Given the description of an element on the screen output the (x, y) to click on. 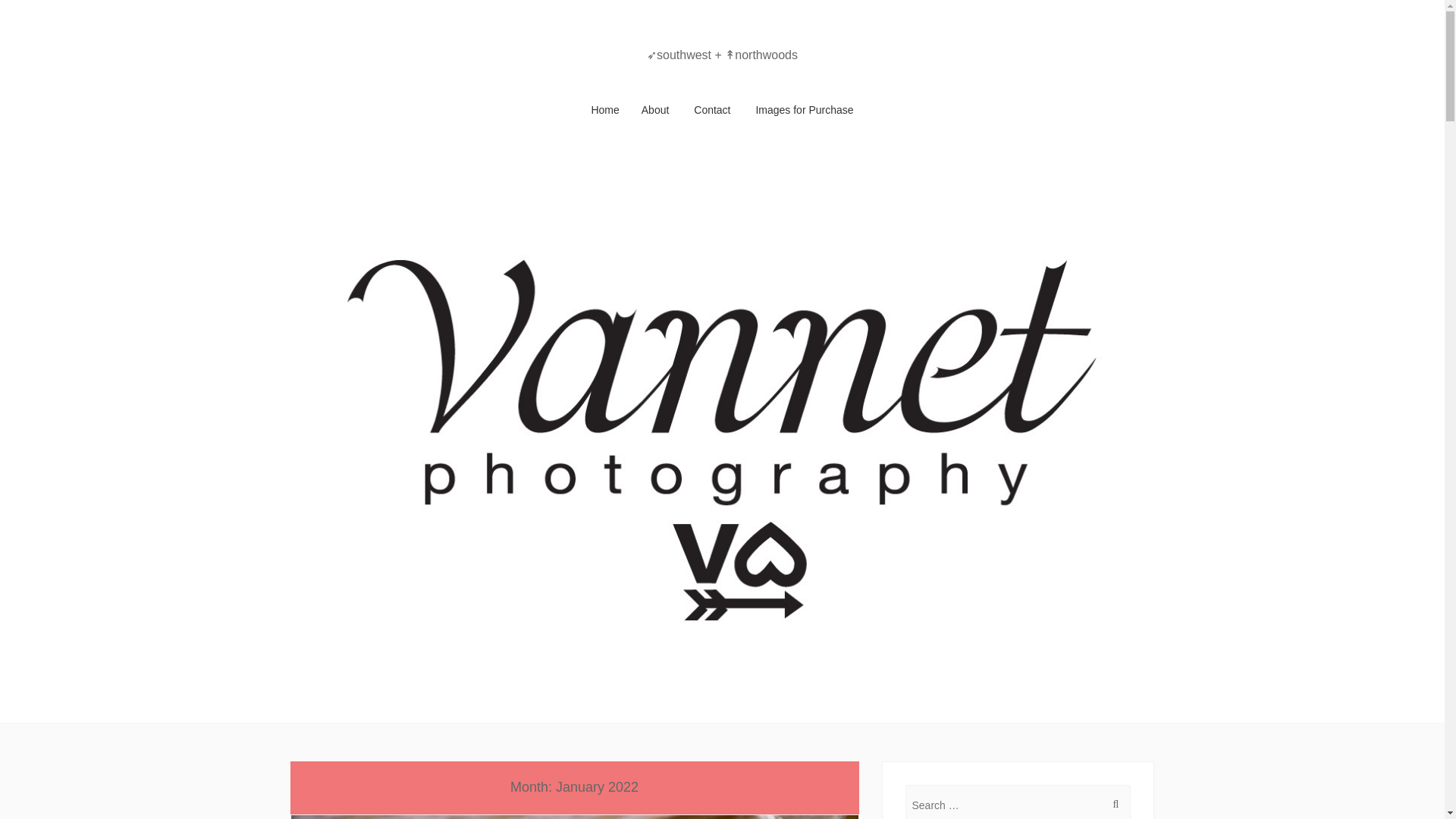
Skip to content (324, 109)
About (655, 109)
Contact (711, 109)
Images for Purchase (803, 109)
Home (604, 109)
